Given the description of an element on the screen output the (x, y) to click on. 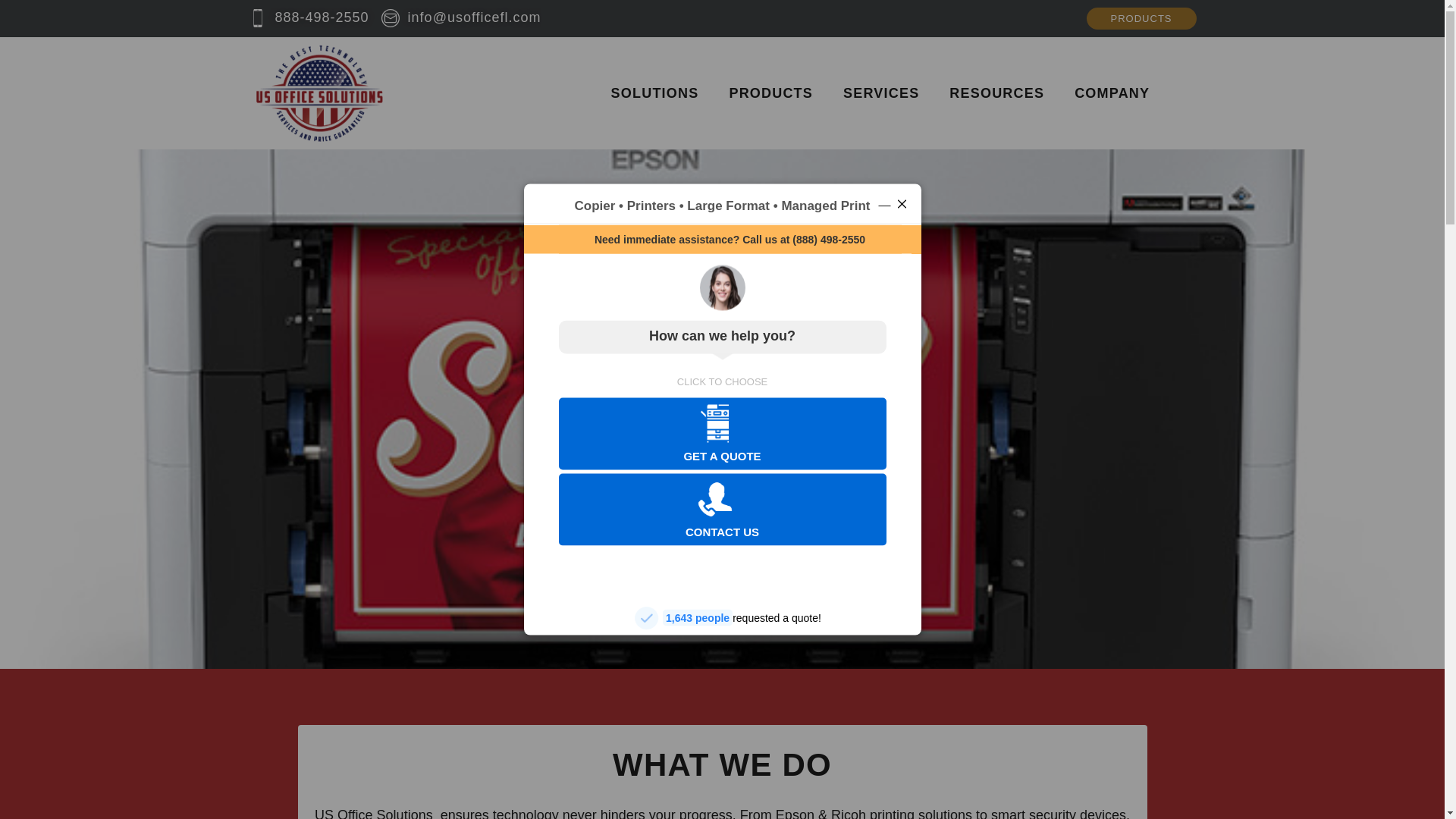
SOLUTIONS (654, 93)
COMPANY (1111, 93)
PRODUCTS (770, 93)
SERVICES (881, 93)
PRODUCTS (1141, 18)
RESOURCES (996, 93)
888-498-2550 (308, 17)
